Given the description of an element on the screen output the (x, y) to click on. 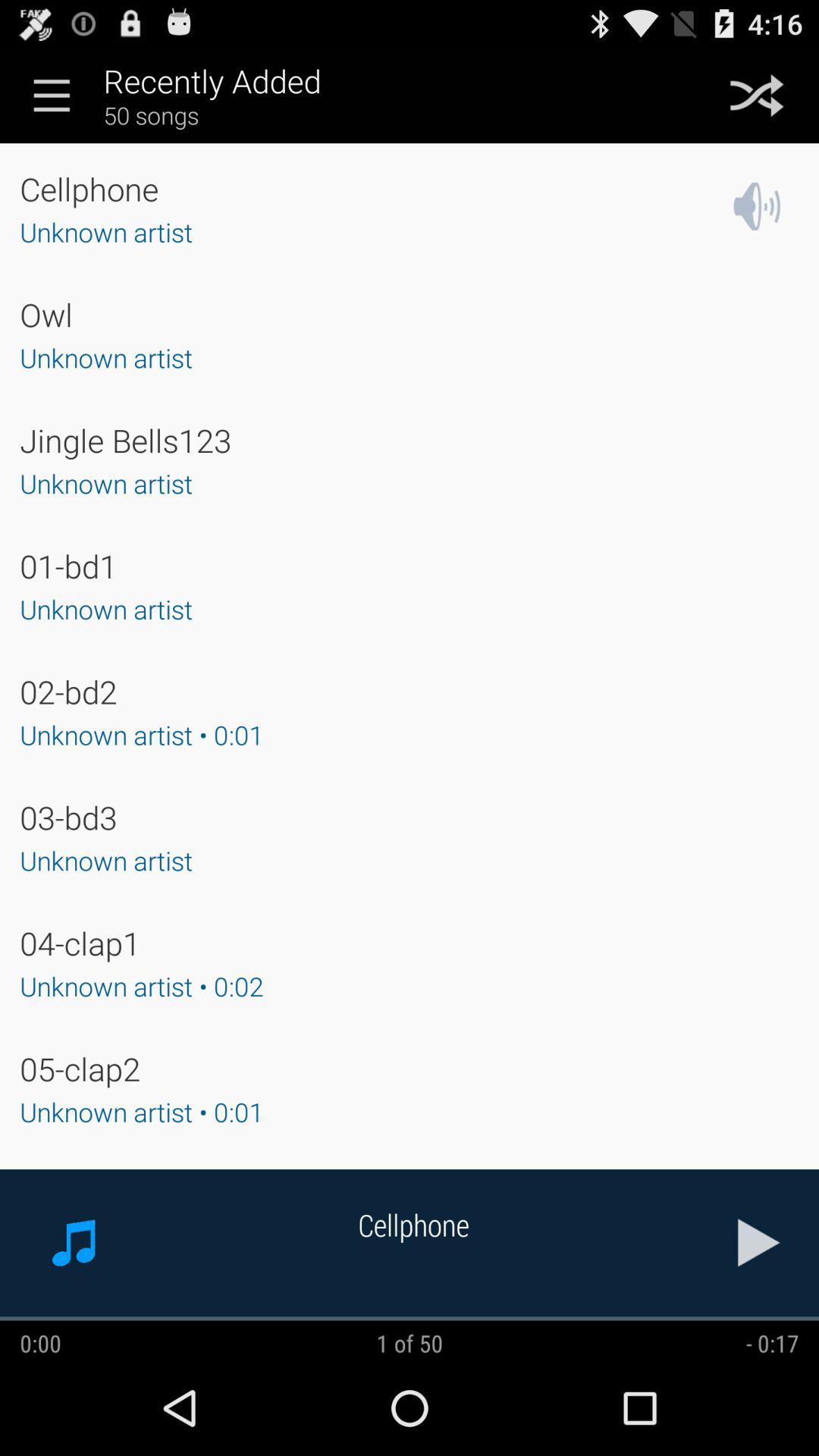
press the item next to the cellphone icon (759, 1242)
